Given the description of an element on the screen output the (x, y) to click on. 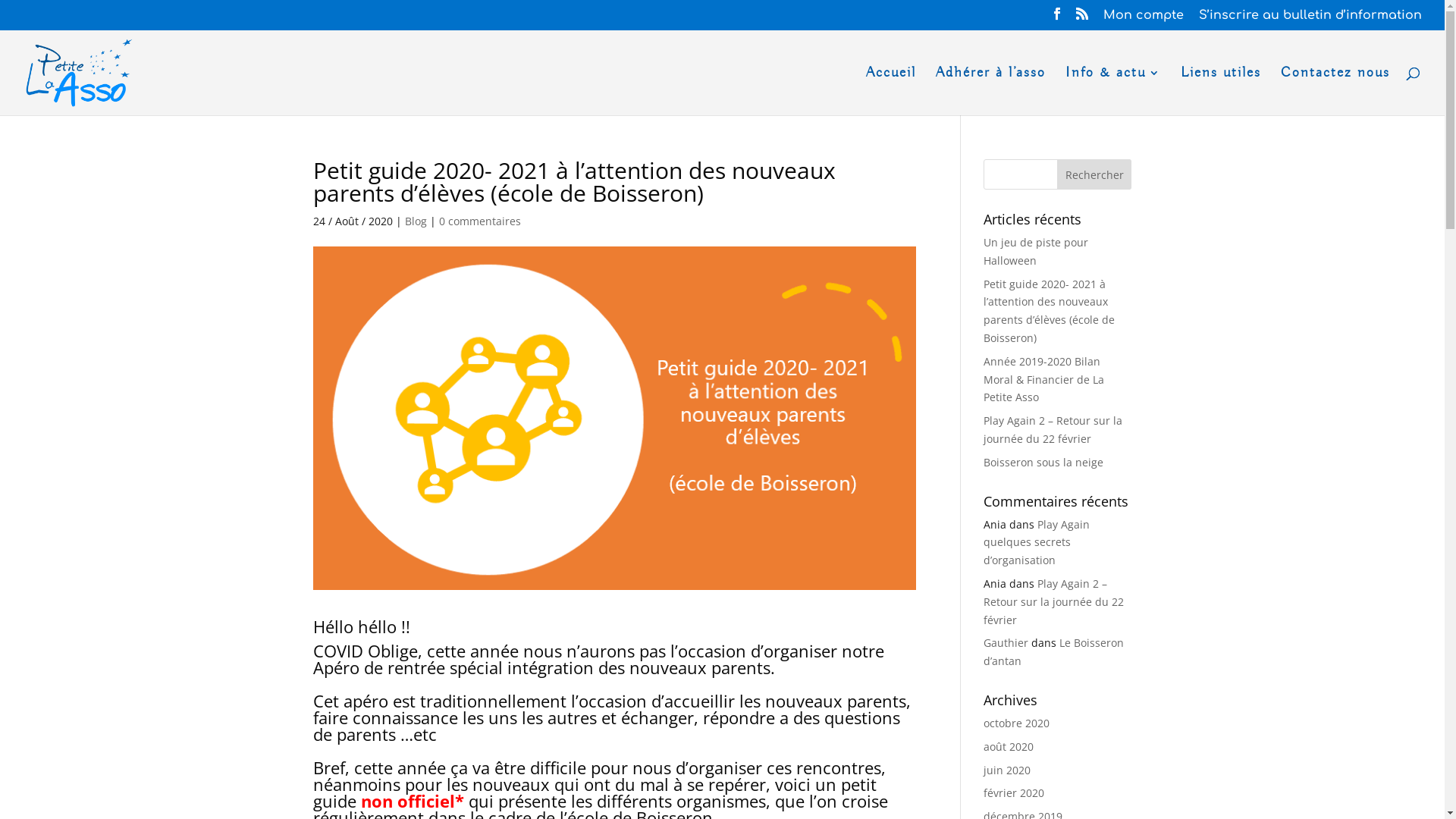
Gauthier Element type: text (1005, 642)
octobre 2020 Element type: text (1016, 722)
Boisseron sous la neige Element type: text (1043, 462)
Info & actu Element type: text (1113, 91)
Rechercher Element type: text (1094, 174)
0 commentaires Element type: text (479, 220)
Accueil Element type: text (891, 91)
Liens utiles Element type: text (1220, 91)
Blog Element type: text (415, 220)
Un jeu de piste pour Halloween Element type: text (1035, 251)
Mon compte Element type: text (1143, 19)
Contactez nous Element type: text (1335, 91)
juin 2020 Element type: text (1006, 769)
